Given the description of an element on the screen output the (x, y) to click on. 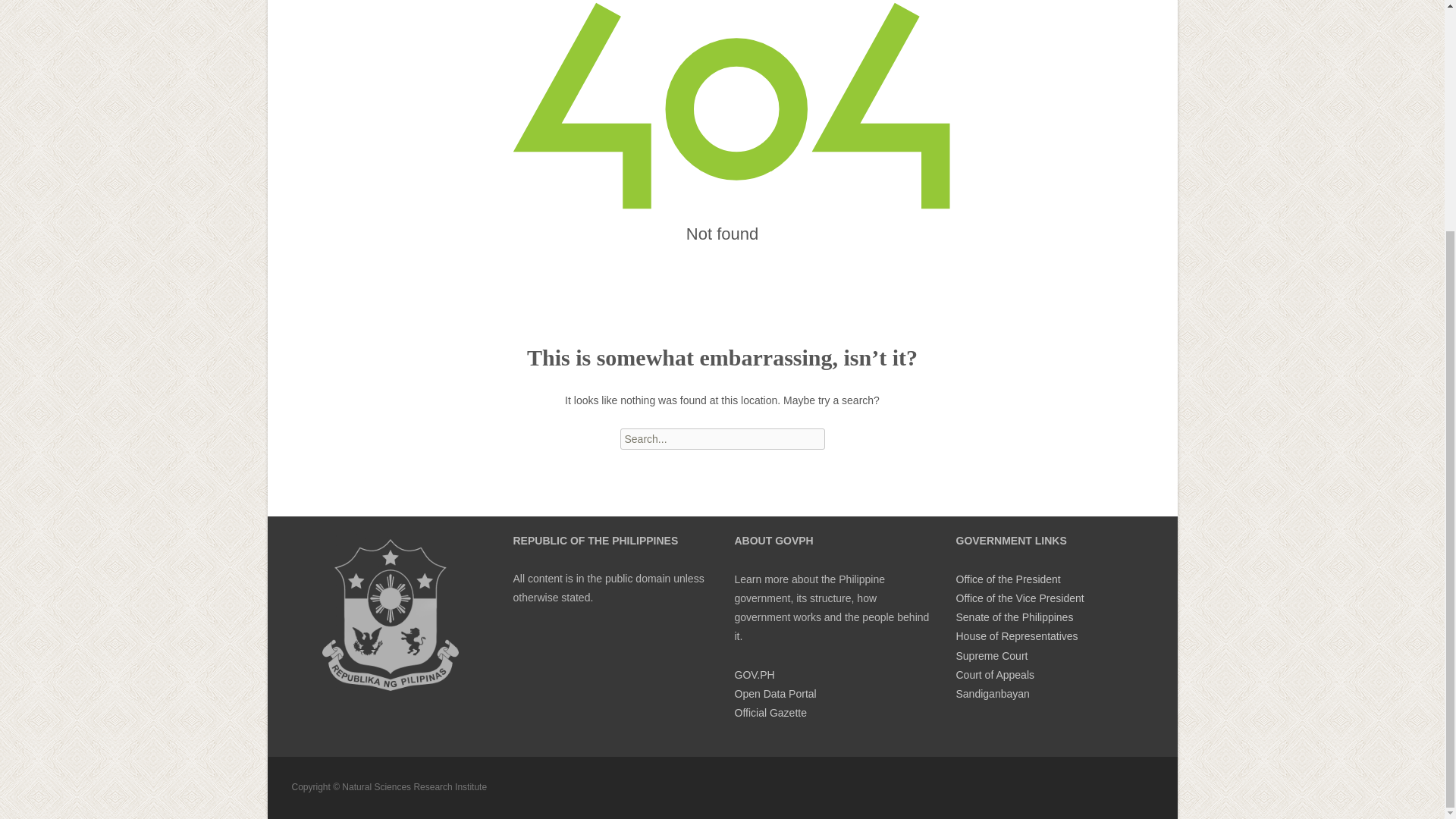
GOV.PH (753, 674)
Search for: (722, 438)
Official Gazette (769, 712)
Office of the President (1007, 579)
Court of Appeals (994, 674)
Sandiganbayan (992, 693)
Senate of the Philippines (1014, 616)
Supreme Court (991, 655)
House of Representatives (1016, 635)
Office of the Vice President (1019, 598)
